Given the description of an element on the screen output the (x, y) to click on. 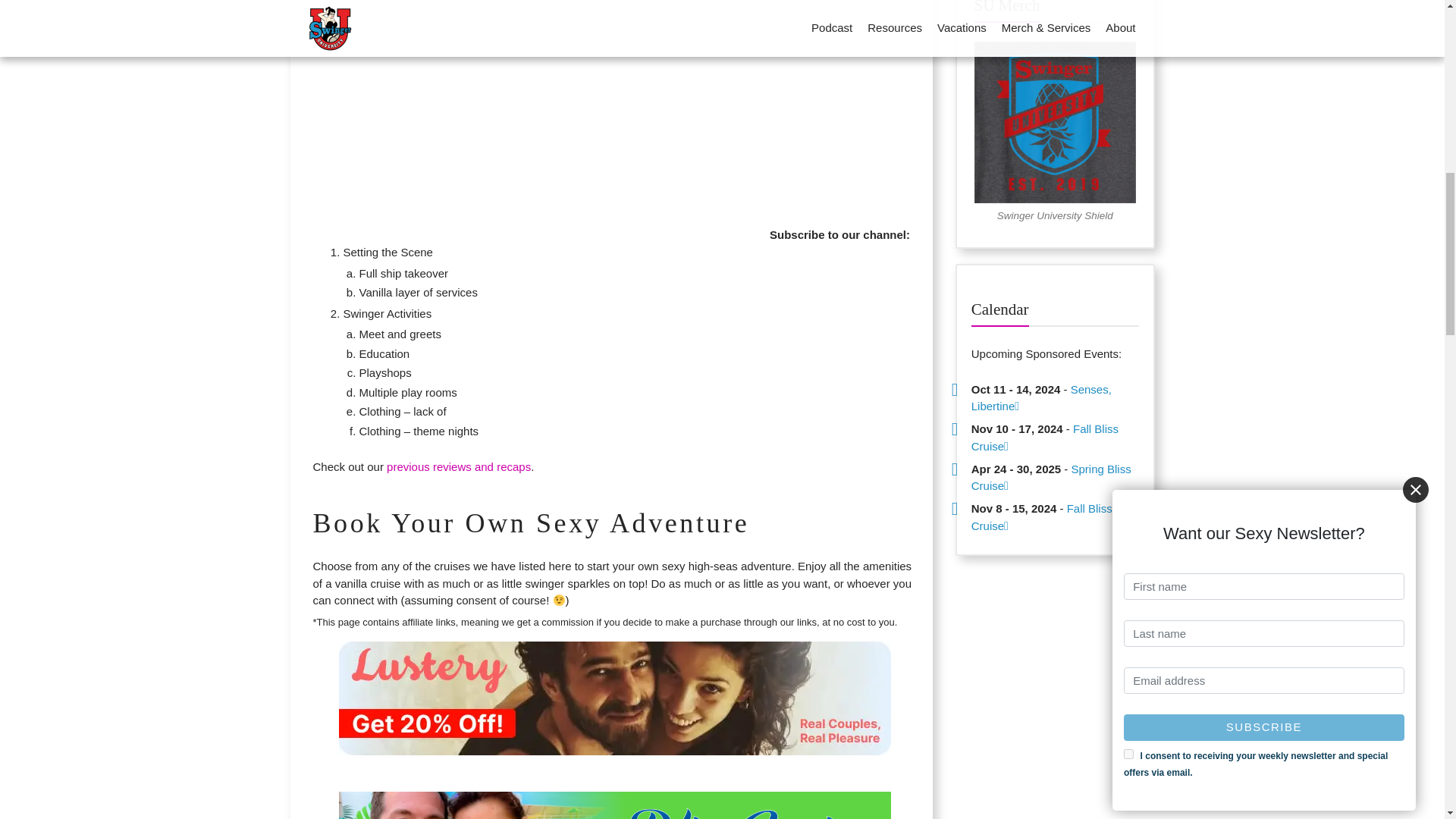
Swinger Cruise 2022 (615, 101)
previous reviews and recaps (459, 466)
